Given the description of an element on the screen output the (x, y) to click on. 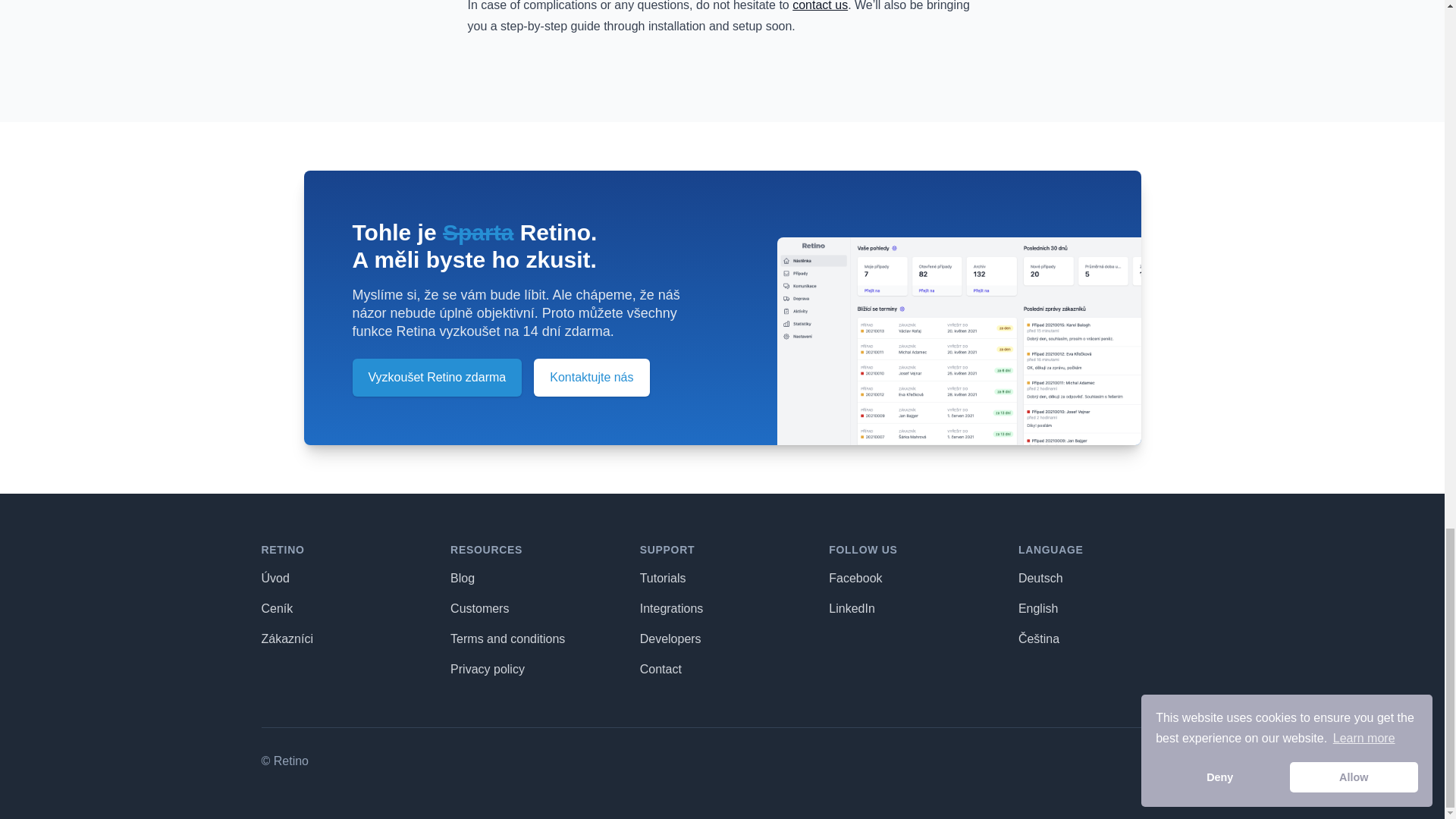
Tutorials (662, 577)
Privacy policy (486, 668)
contact us (819, 5)
Blog (461, 577)
Integrations (671, 608)
Facebook (855, 577)
English (1037, 608)
Developers (670, 638)
Terms and conditions (506, 638)
Customers (478, 608)
Contact (660, 668)
LinkedIn (851, 608)
Deutsch (1039, 577)
